Given the description of an element on the screen output the (x, y) to click on. 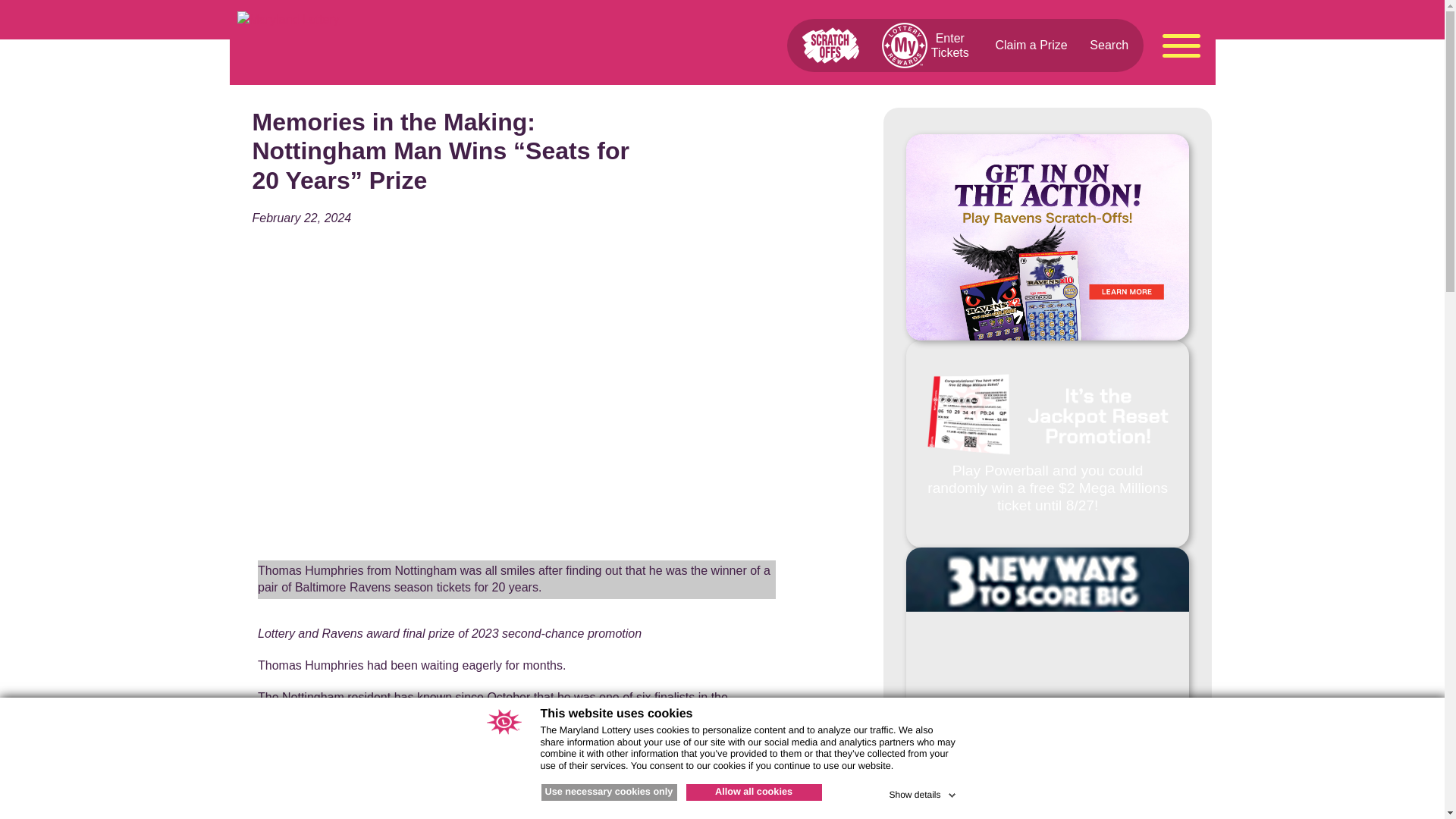
Use necessary cookies only (609, 791)
Show details (923, 791)
Allow all cookies (753, 791)
